Given the description of an element on the screen output the (x, y) to click on. 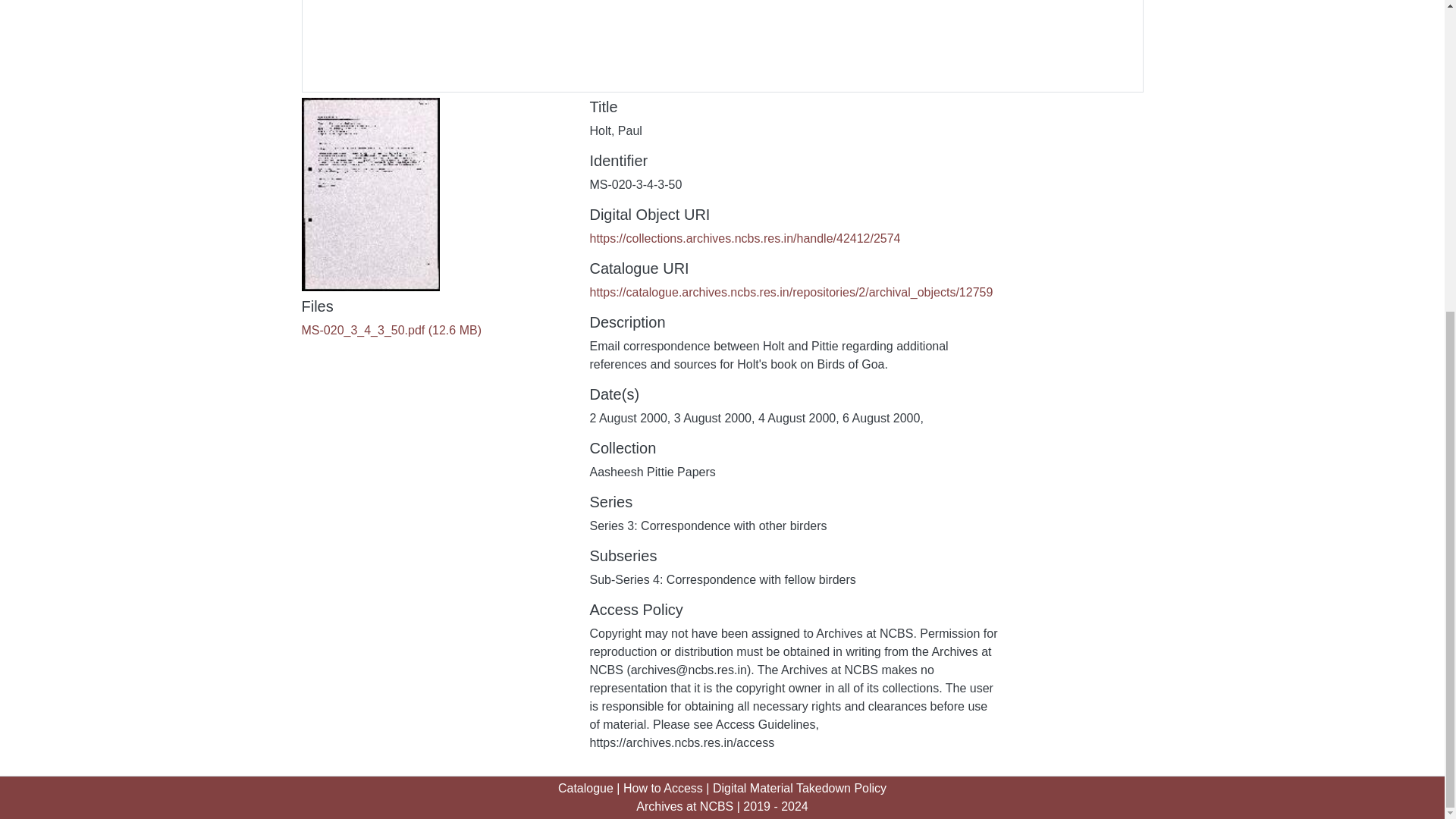
Digital Material Takedown Policy (799, 788)
Archives at NCBS (684, 806)
Catalogue (584, 788)
Mirador Viewer (721, 46)
How to Access (663, 788)
